Given the description of an element on the screen output the (x, y) to click on. 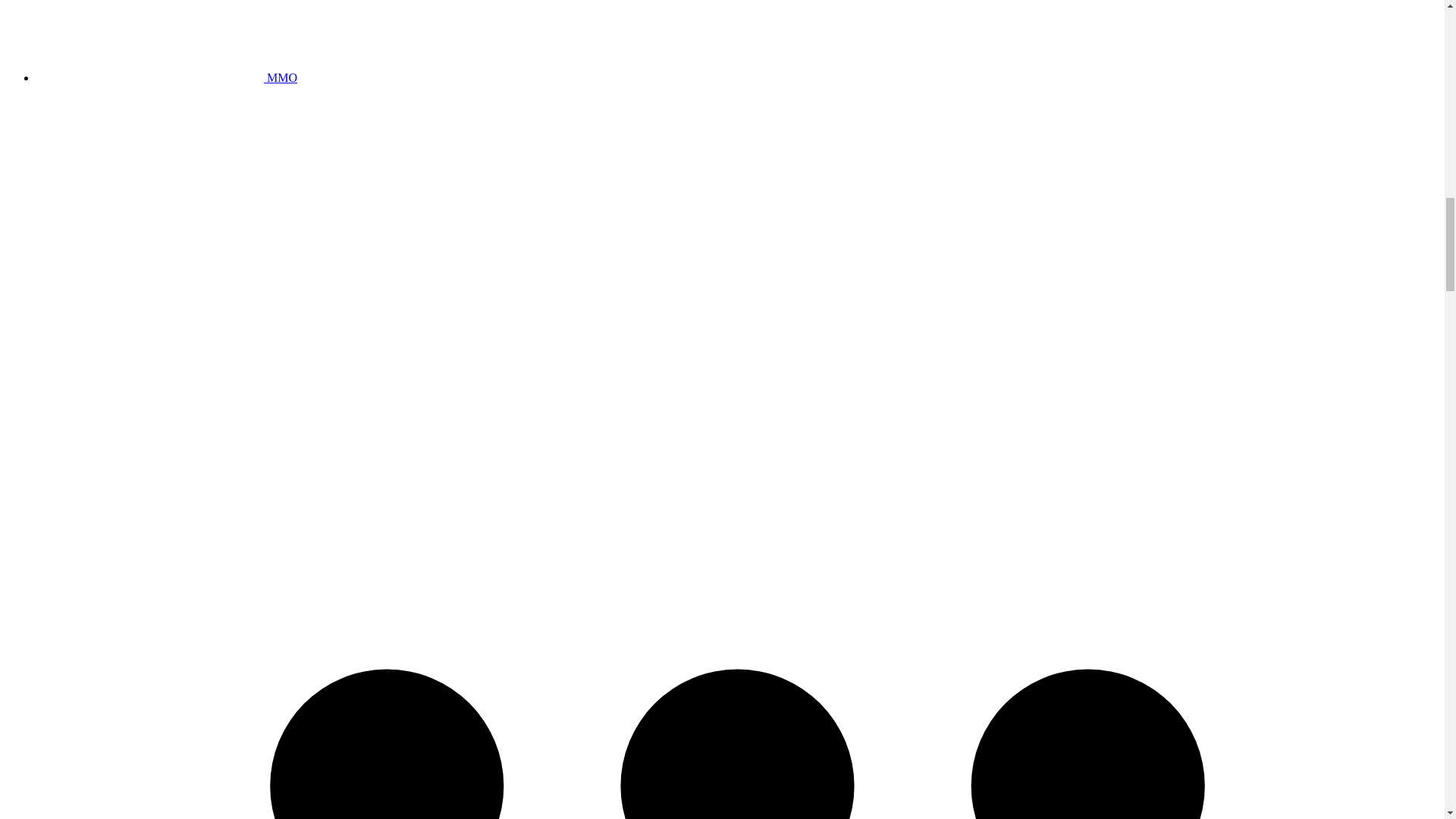
MMO (166, 77)
MMO games (166, 77)
